Given the description of an element on the screen output the (x, y) to click on. 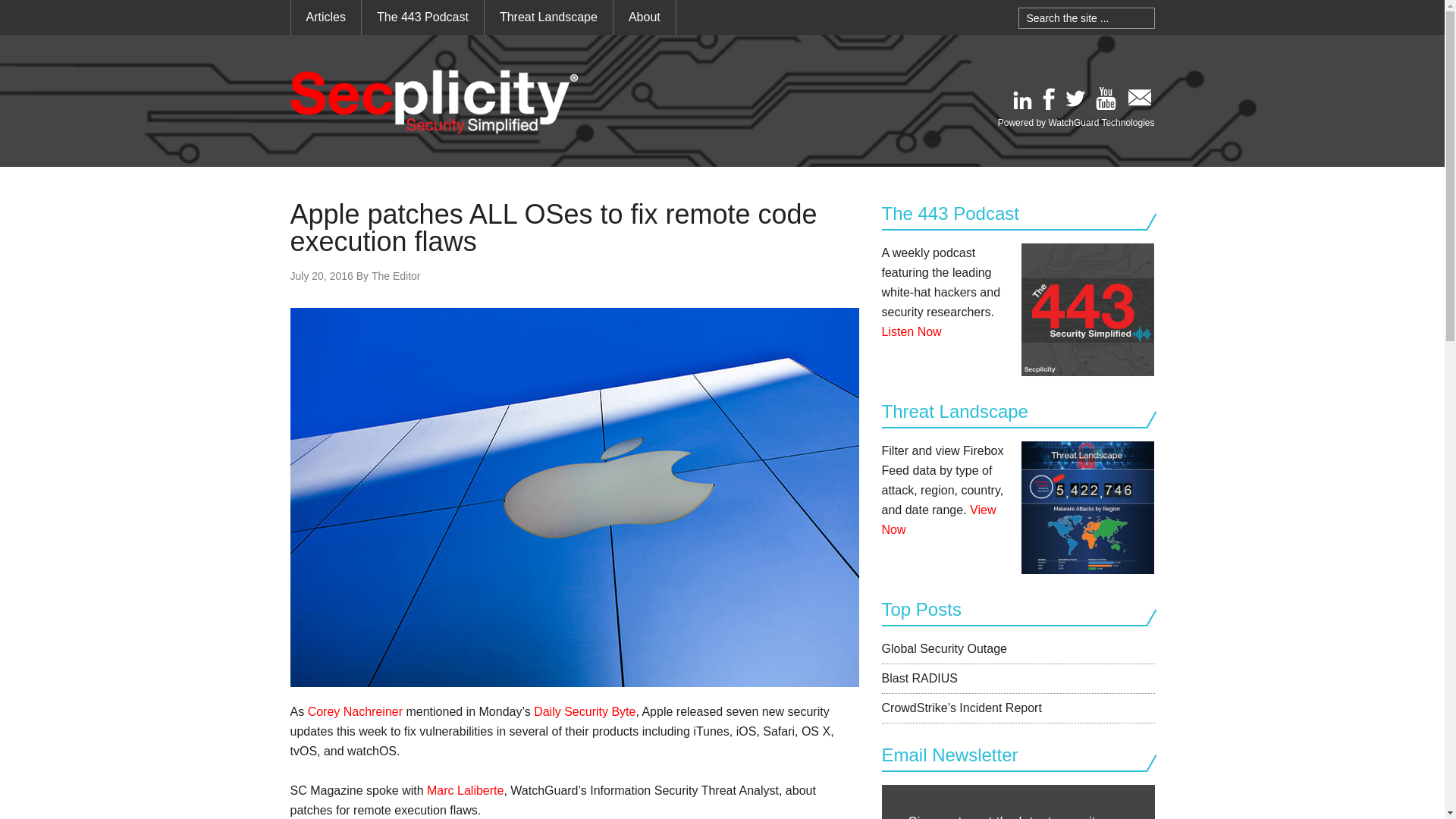
Threat Landscape (548, 17)
Listen Now (910, 331)
Secplicity - Security Simplified (433, 101)
About (643, 17)
View Now (937, 519)
Daily Security Byte (584, 711)
Global Security Outage (943, 648)
Articles (326, 17)
